Given the description of an element on the screen output the (x, y) to click on. 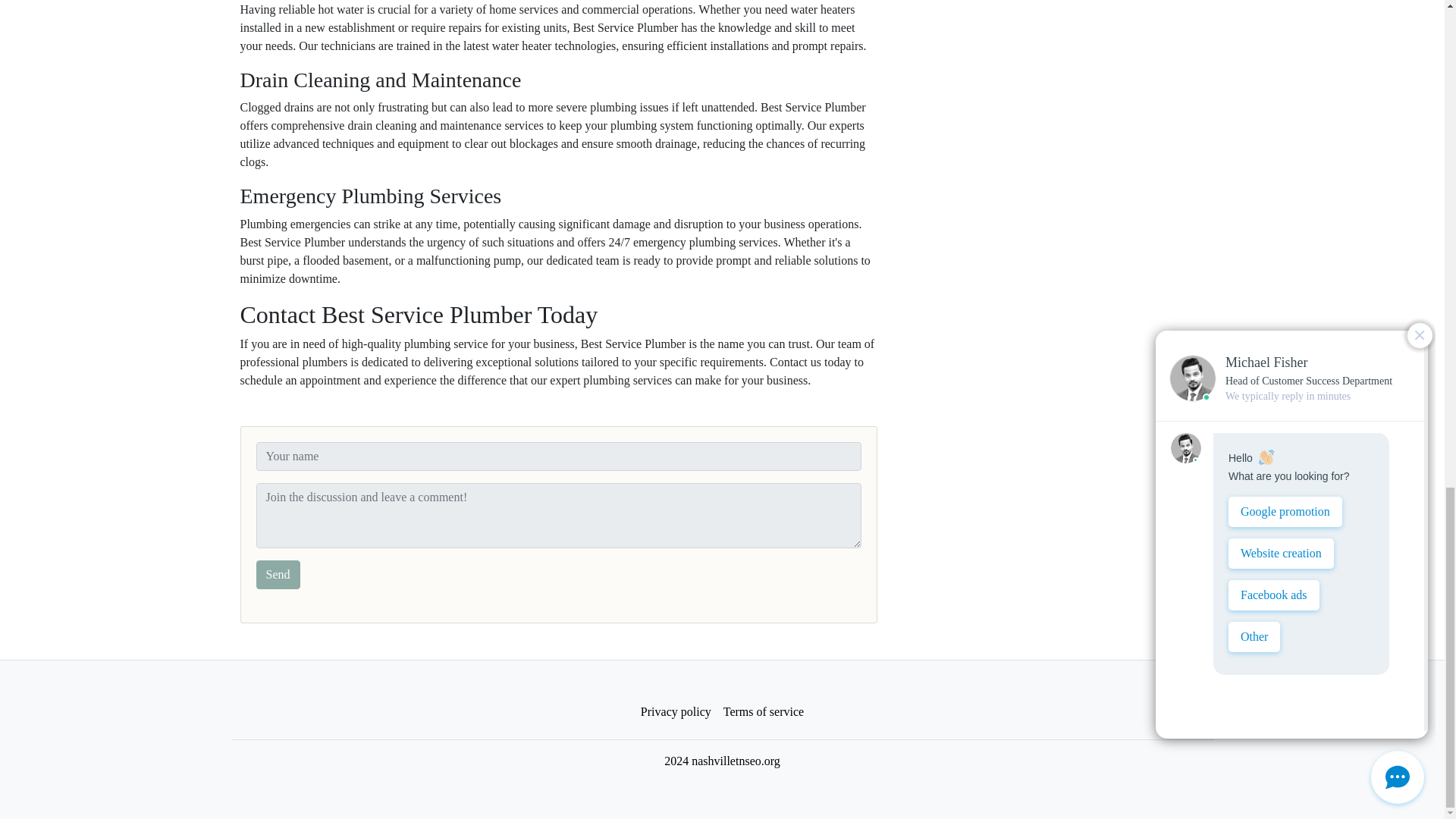
Terms of service (763, 711)
Send (277, 574)
Privacy policy (675, 711)
Send (277, 574)
